Given the description of an element on the screen output the (x, y) to click on. 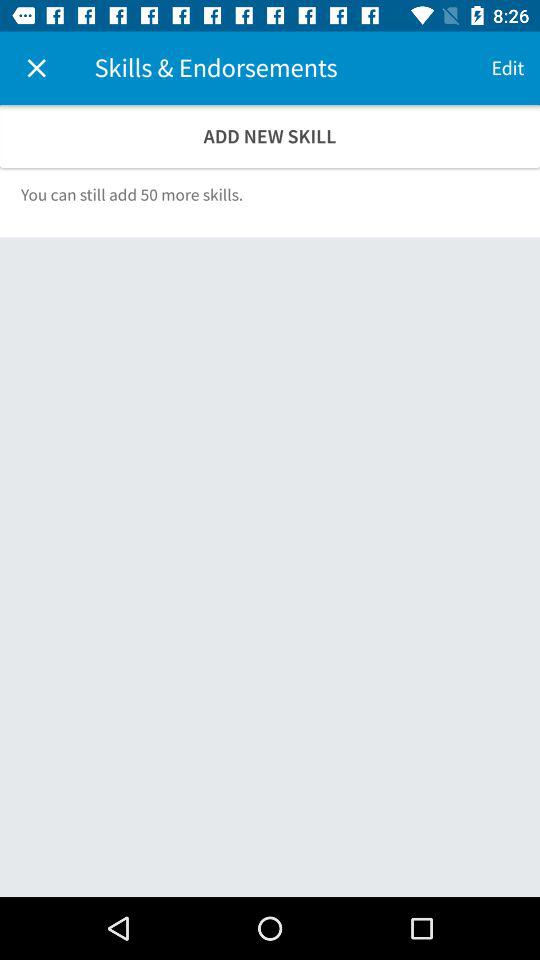
open icon at the top left corner (36, 68)
